Given the description of an element on the screen output the (x, y) to click on. 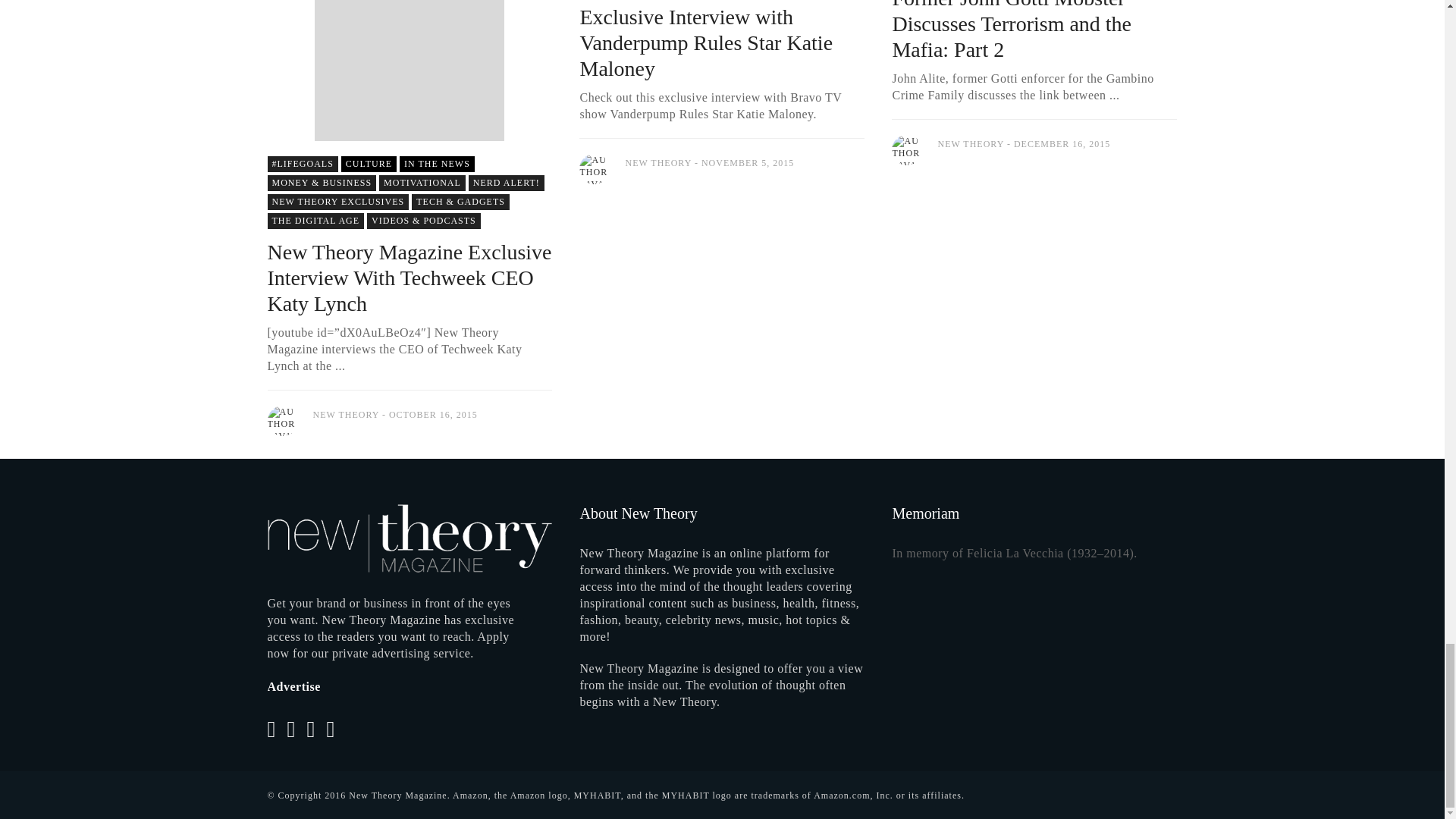
View all posts in 154 (421, 182)
View all posts in 919 (506, 182)
View all posts in 922 (423, 220)
View all posts in 923 (337, 201)
View all posts in 158 (368, 163)
View all posts in 144 (320, 182)
View all posts in 153 (436, 163)
View all posts in 143 (301, 163)
View all posts in 155 (460, 201)
View all posts in 152 (315, 220)
